Given the description of an element on the screen output the (x, y) to click on. 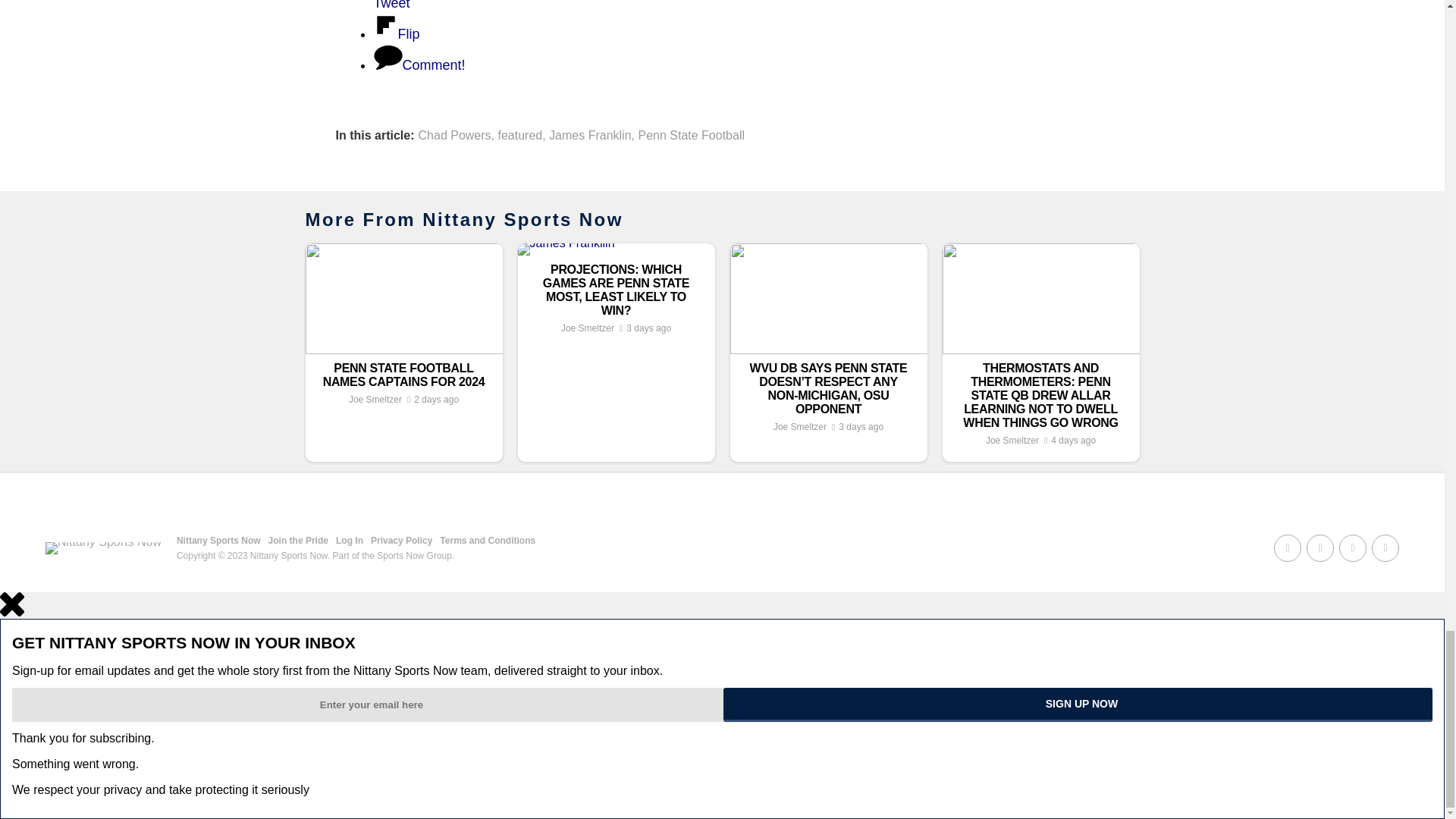
Posts by Joe Smeltzer (800, 426)
Sign Up Now (1077, 704)
Posts by Joe Smeltzer (1012, 439)
Posts by Joe Smeltzer (587, 327)
Share on Comment! (418, 64)
Posts by Joe Smeltzer (375, 398)
Share on Flip (395, 33)
Share on Tweet (603, 5)
